Given the description of an element on the screen output the (x, y) to click on. 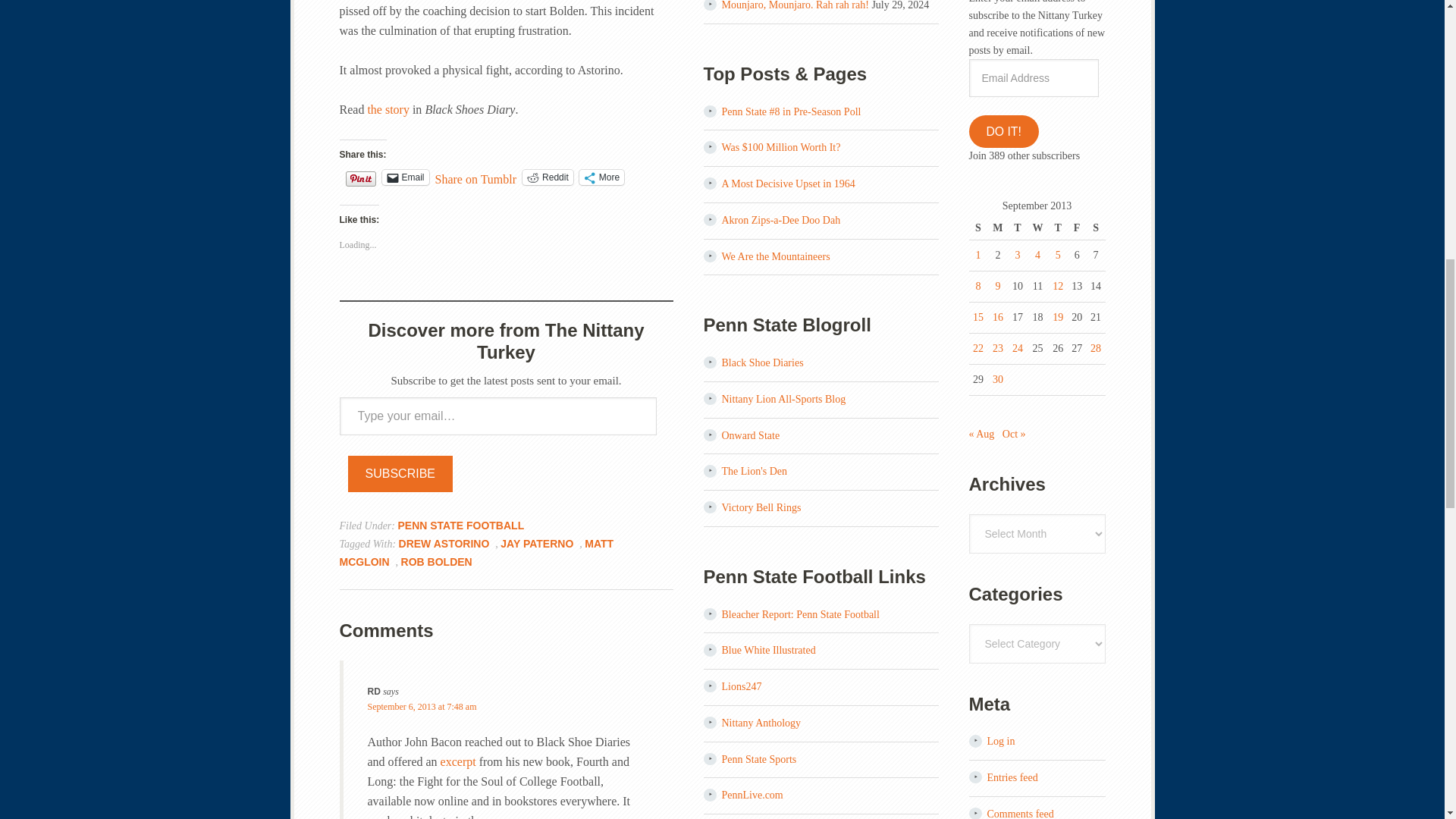
Click to share on Reddit (547, 177)
Rocking Happy Valley since 2006. (762, 362)
Patriot-news Penn State football section (752, 794)
Share on Tumblr (475, 176)
ROB BOLDEN (436, 561)
Please fill in this field. (497, 415)
DREW ASTORINO (443, 543)
Phil Grosz and company. Commentary about PSU sports. (768, 650)
Email (405, 177)
